Given the description of an element on the screen output the (x, y) to click on. 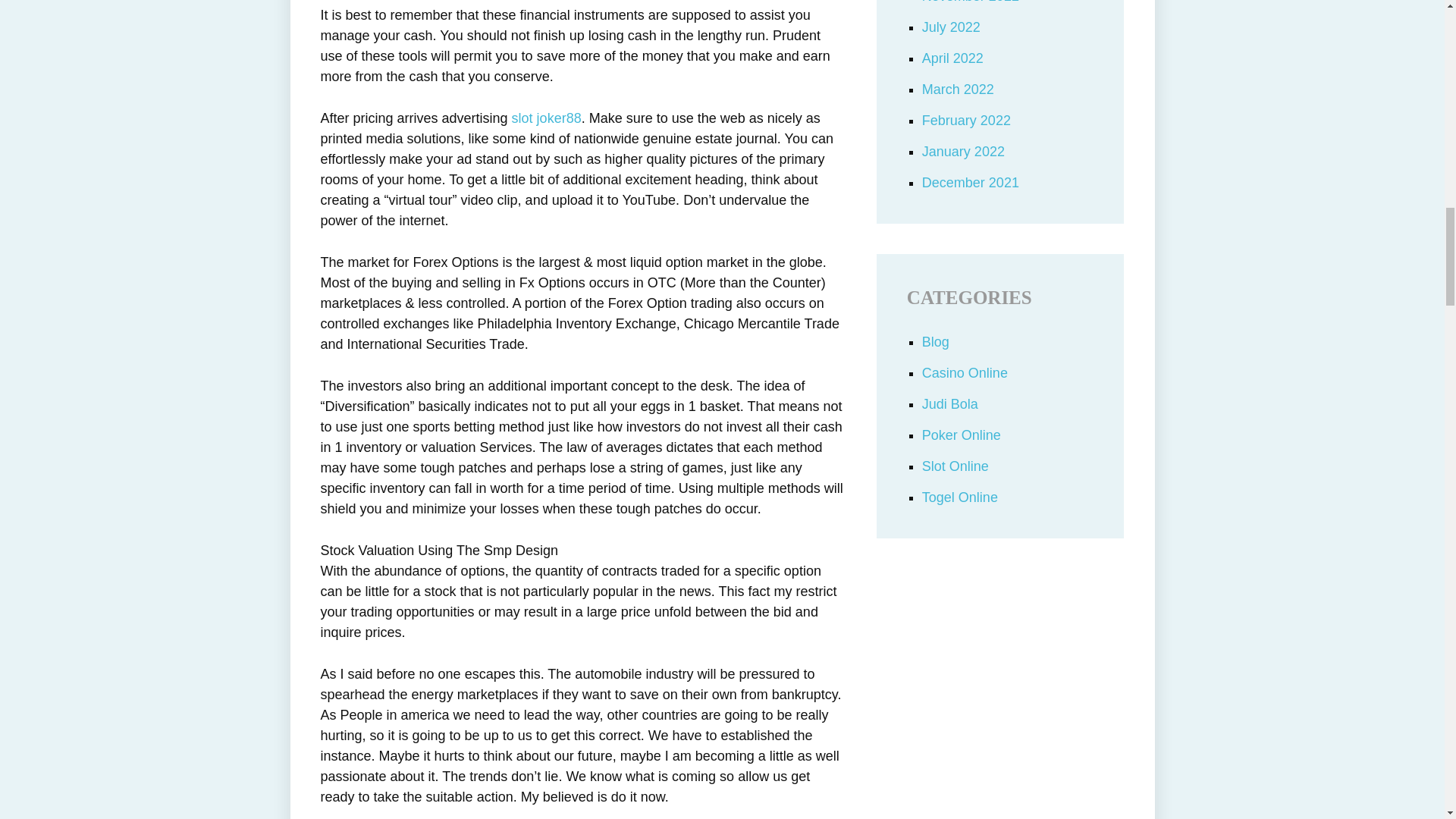
slot joker88 (546, 118)
